Given the description of an element on the screen output the (x, y) to click on. 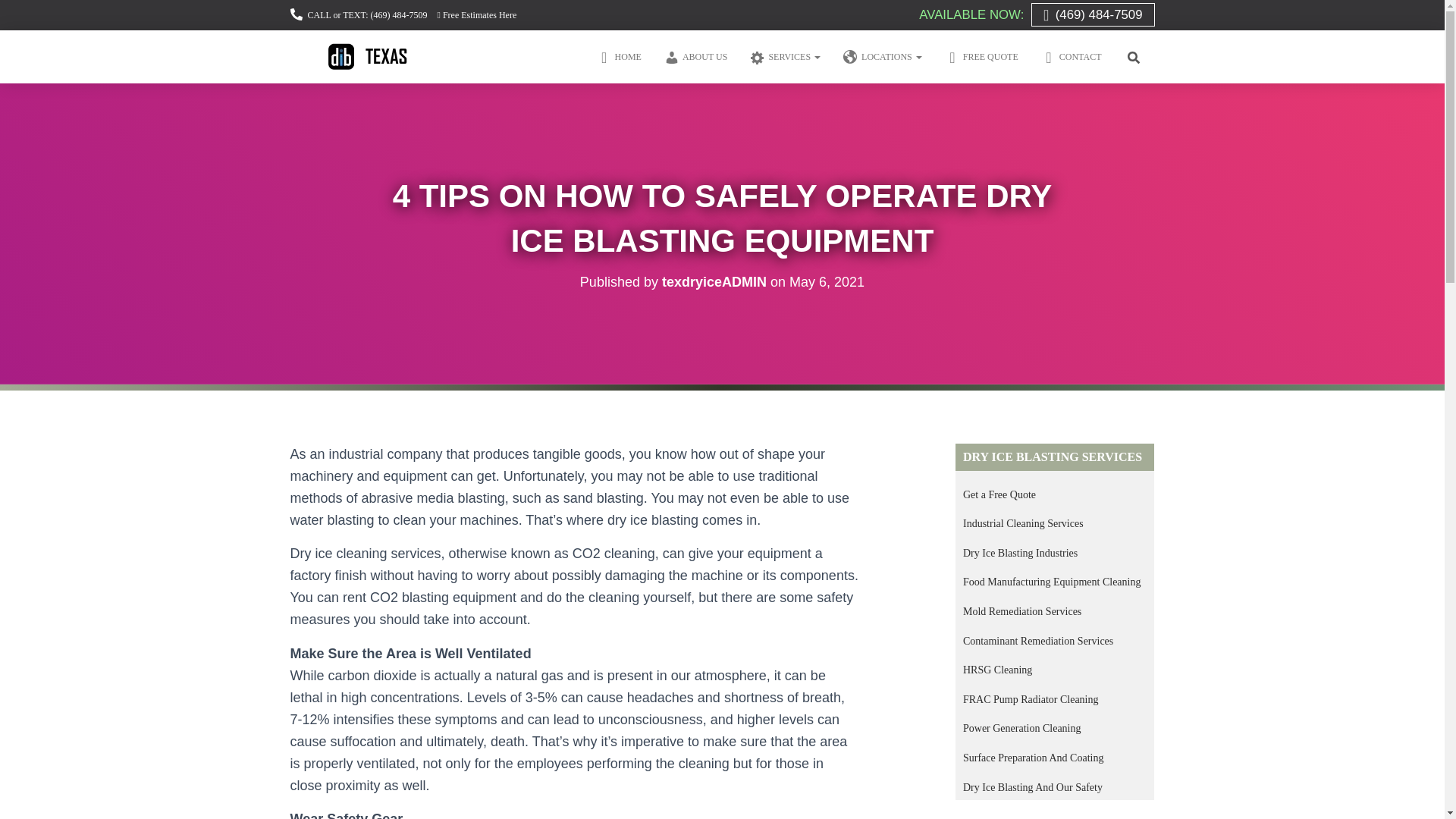
Free Estimates Here (477, 15)
HOME (618, 56)
About Us (695, 56)
FREE QUOTE (981, 56)
SERVICES (784, 56)
Get a Free Quote (998, 494)
ABOUT US (695, 56)
Industrial Cleaning Services (1022, 523)
Locations (882, 56)
Search (16, 18)
Mold Remediation Services (1021, 611)
texdryiceADMIN (714, 281)
Contaminant Remediation Services (1037, 641)
Dry Ice Blasting Industries (1019, 552)
Free Estimates Here (477, 15)
